Given the description of an element on the screen output the (x, y) to click on. 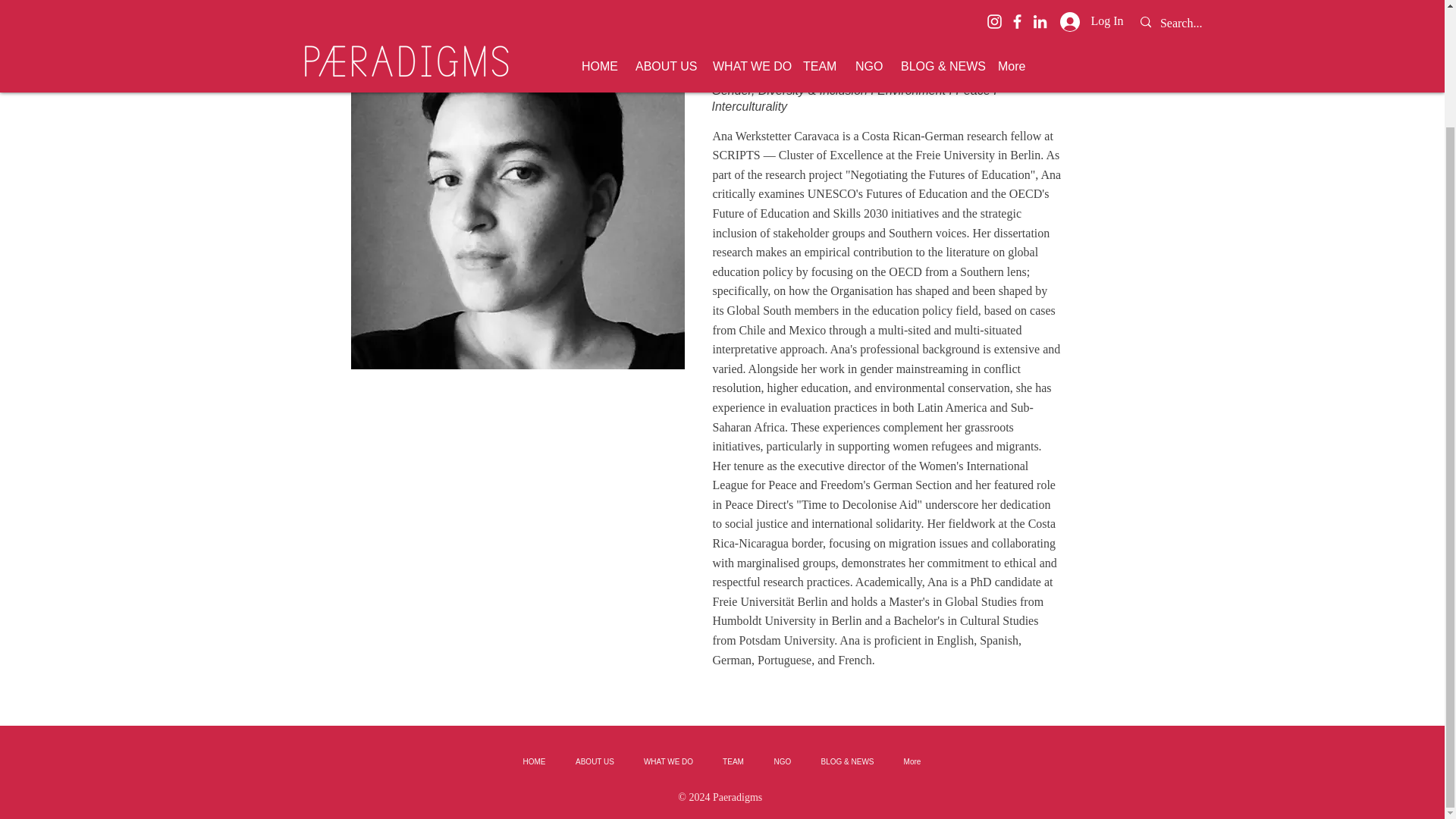
ABOUT US (594, 761)
TEAM (732, 761)
Ana.jpg (517, 202)
HOME (534, 761)
NGO (782, 761)
